Given the description of an element on the screen output the (x, y) to click on. 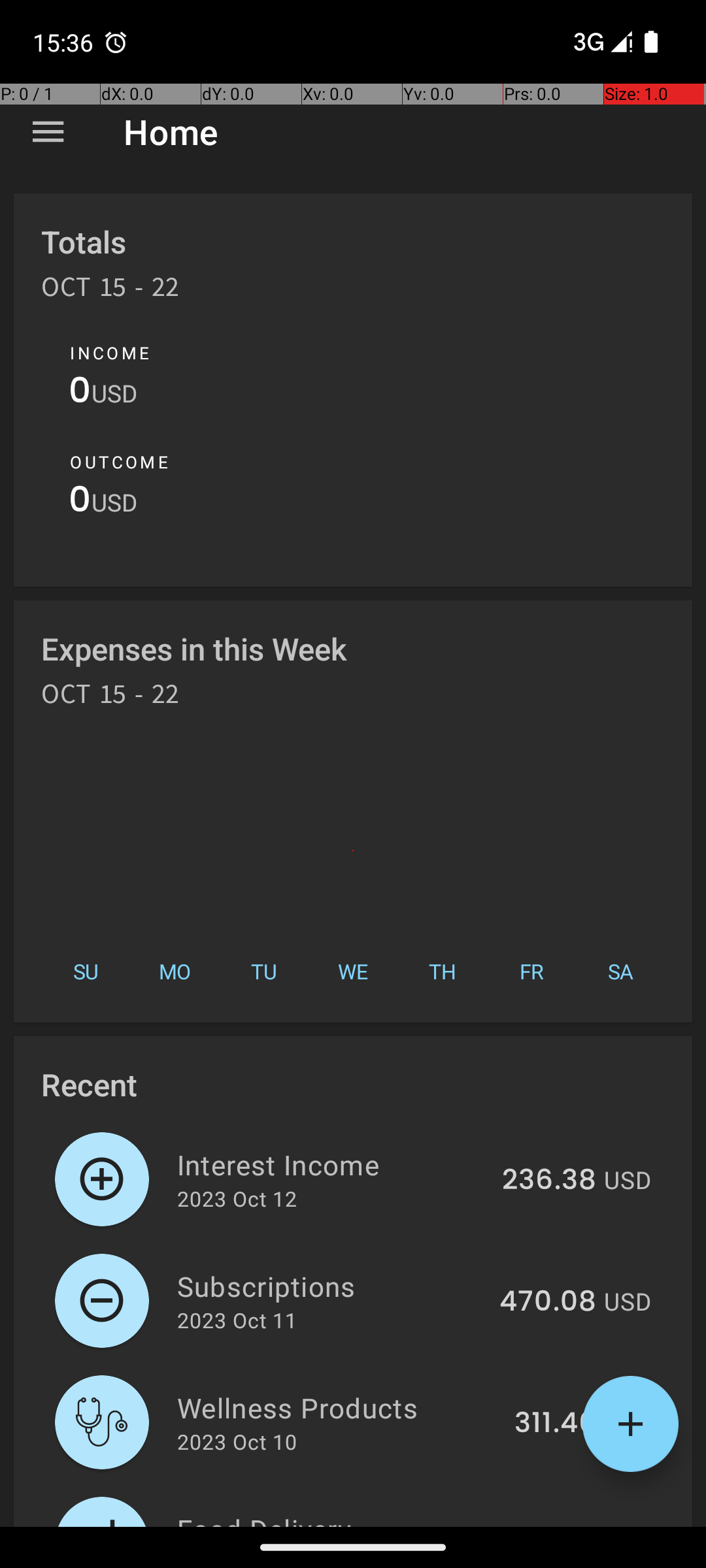
Interest Income Element type: android.widget.TextView (331, 1164)
236.38 Element type: android.widget.TextView (548, 1180)
470.08 Element type: android.widget.TextView (547, 1301)
311.46 Element type: android.widget.TextView (554, 1423)
Food Delivery Element type: android.widget.TextView (334, 1518)
298.51 Element type: android.widget.TextView (551, 1524)
